Given the description of an element on the screen output the (x, y) to click on. 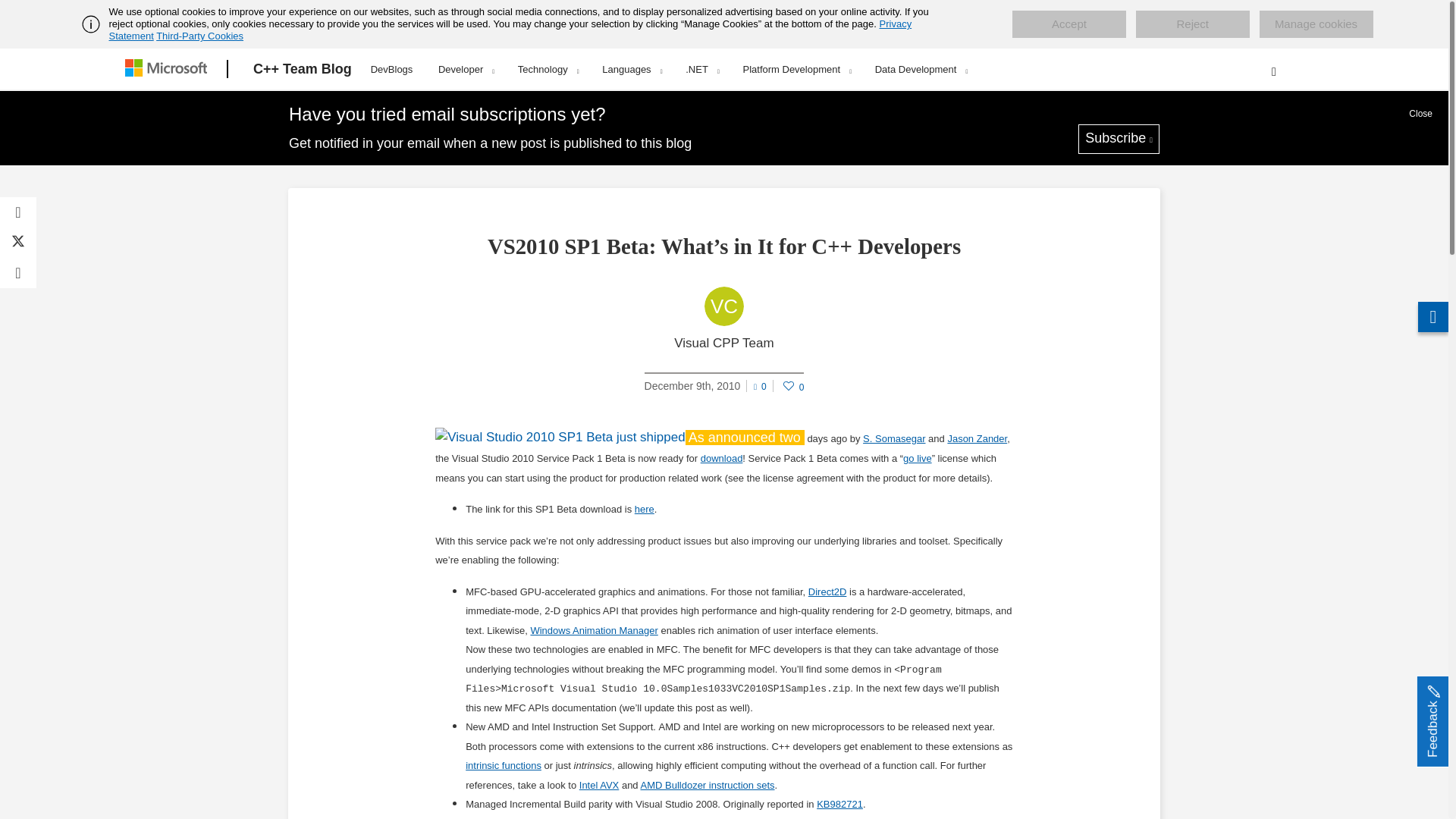
Privacy Statement (510, 29)
Third-Party Cookies (199, 35)
Share on Facebook (18, 212)
Reject (1192, 23)
Technology (548, 69)
Share on Twitter (18, 242)
Developer (465, 69)
Languages (631, 69)
Accept (1068, 23)
Manage cookies (1316, 23)
Visual Studio 2010 SP1 Beta just shipped (559, 437)
Share on LinkedIn (18, 272)
DevBlogs (392, 67)
